Given the description of an element on the screen output the (x, y) to click on. 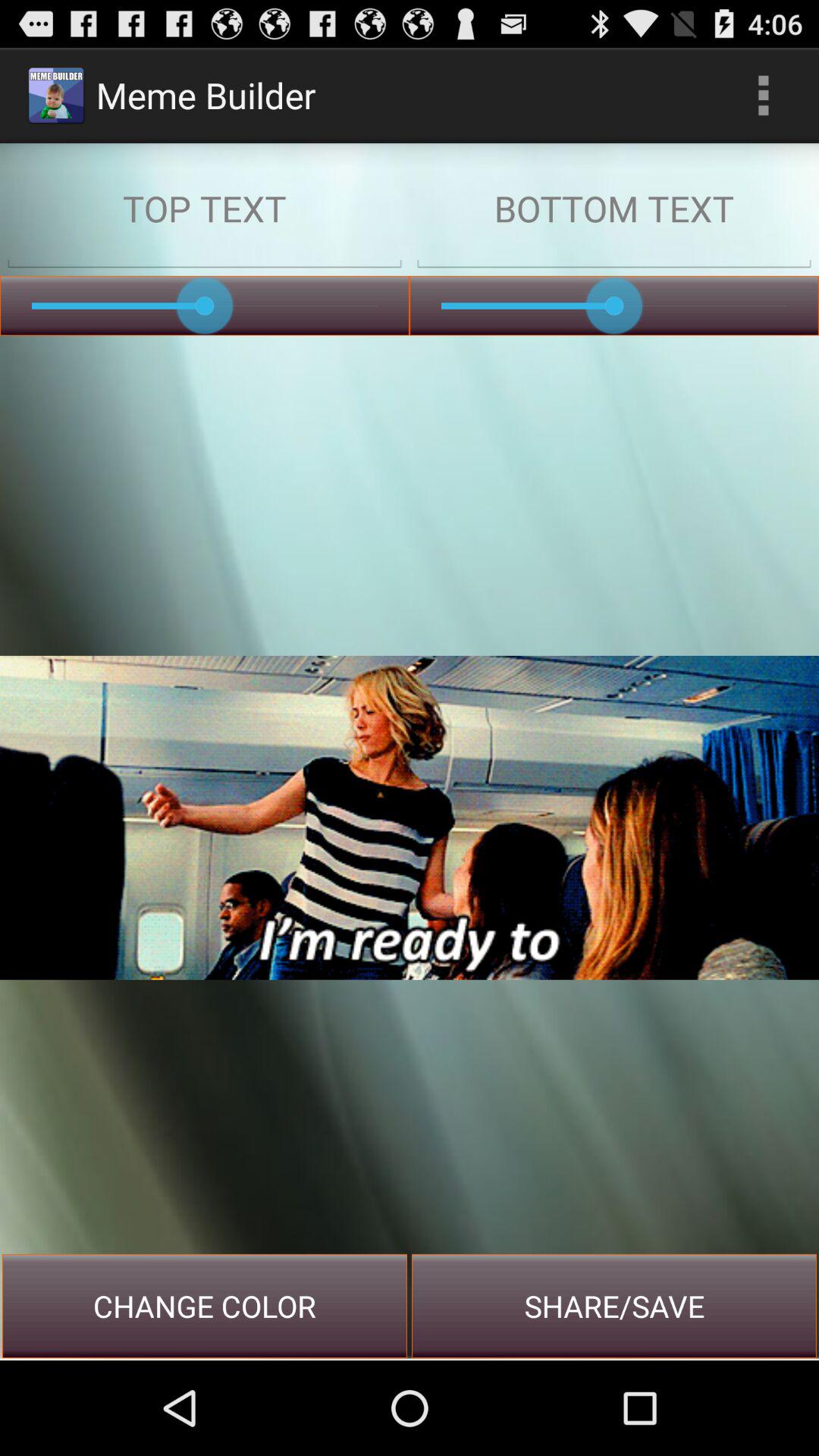
flip until the share/save (613, 1306)
